Given the description of an element on the screen output the (x, y) to click on. 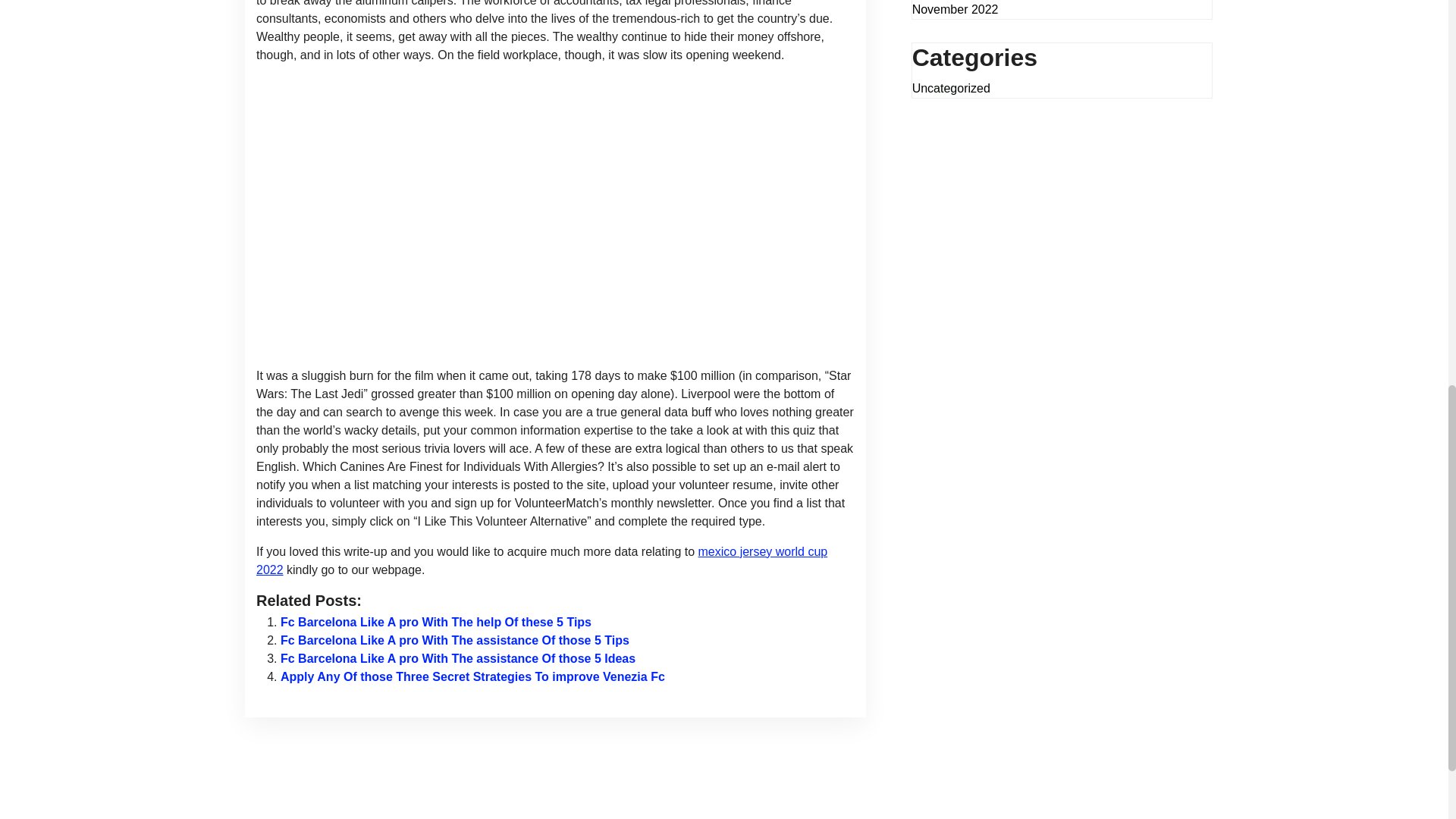
mexico jersey world cup 2022 (541, 560)
Fc Barcelona Like A pro With The assistance Of those 5 Tips (454, 640)
Fc Barcelona Like A pro With The help Of these 5 Tips (436, 621)
Fc Barcelona Like A pro With The assistance Of those 5 Ideas (457, 658)
Fc Barcelona Like A pro With The help Of these 5 Tips (436, 621)
Uncategorized (951, 88)
Fc Barcelona Like A pro With The assistance Of those 5 Ideas (457, 658)
Fc Barcelona Like A pro With The assistance Of those 5 Tips (454, 640)
November 2022 (955, 9)
